Given the description of an element on the screen output the (x, y) to click on. 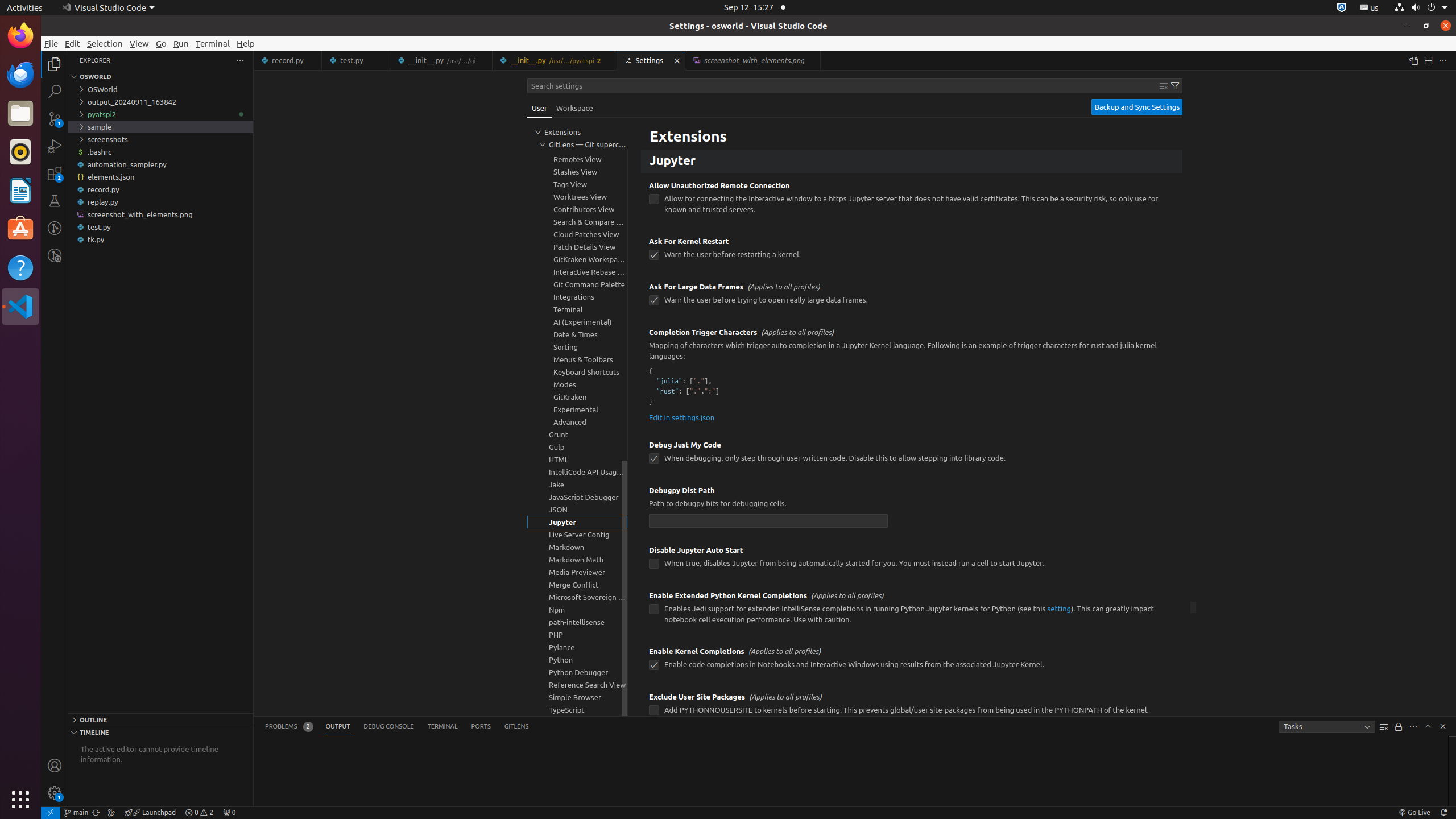
broadcast Go Live, Click to run live server Element type: push-button (1414, 812)
Explorer (Ctrl+Shift+E) Element type: page-tab (54, 63)
test.py Element type: tree-item (160, 226)
Warnings: 2 Element type: push-button (199, 812)
Active View Switcher Element type: page-tab-list (396, 726)
